Given the description of an element on the screen output the (x, y) to click on. 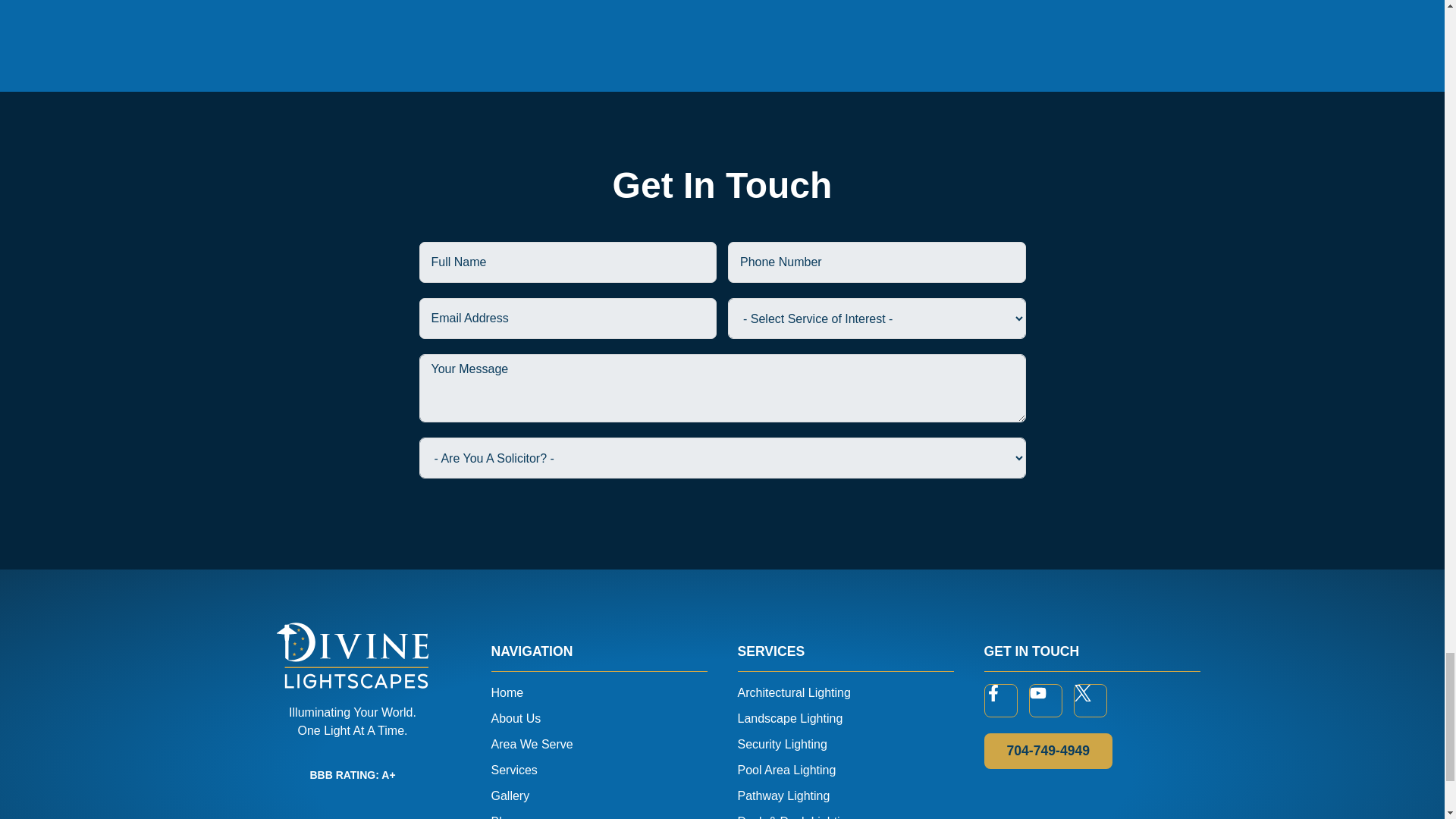
Divine-Lightscapes-White (352, 655)
